Given the description of an element on the screen output the (x, y) to click on. 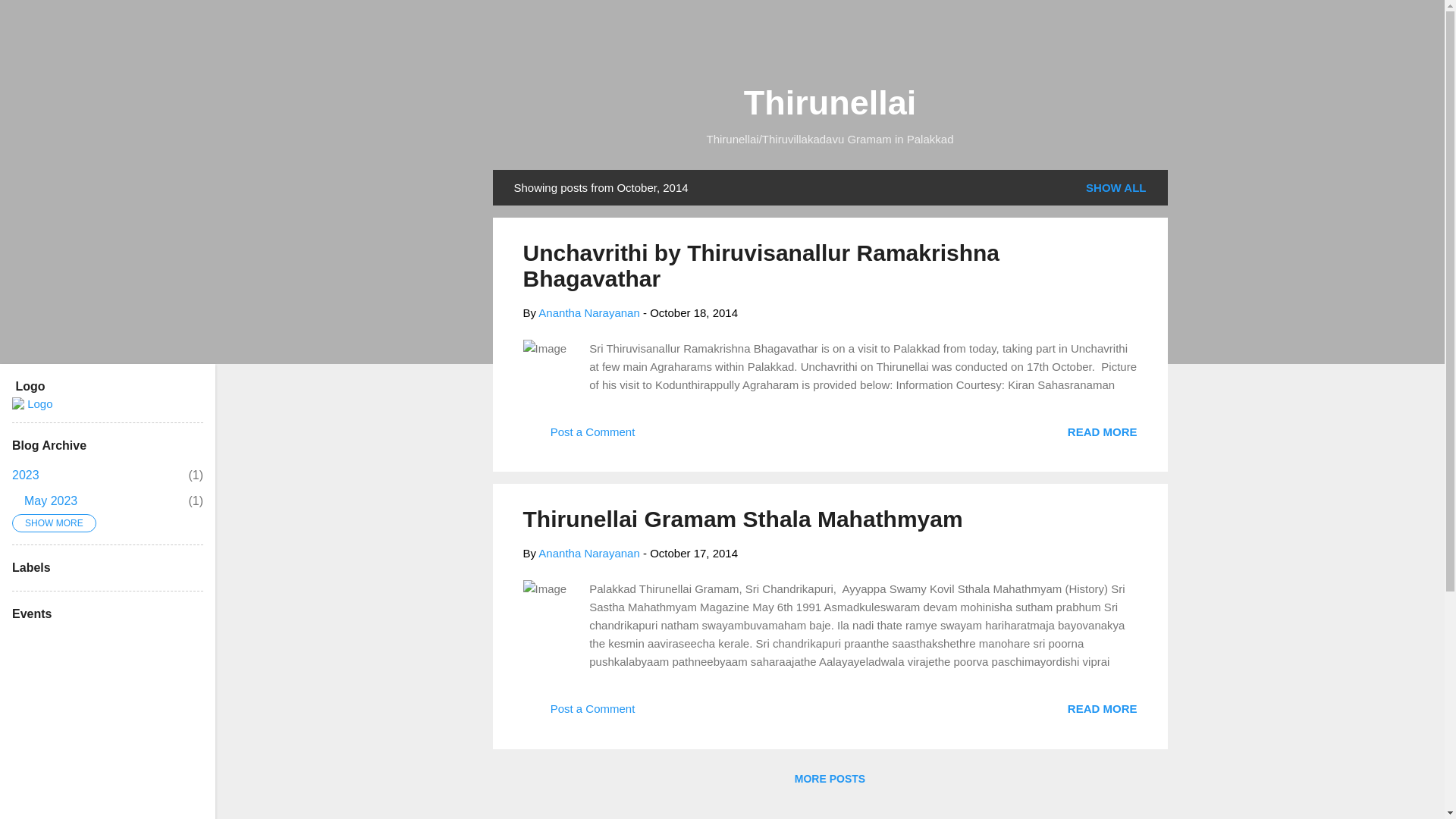
MORE POSTS (829, 777)
SHOW ALL (1115, 187)
READ MORE (1102, 431)
Unchavrithi by Thiruvisanallur Ramakrishna Bhagavathar (761, 265)
Thirunellai Gramam Sthala Mahathmyam (742, 518)
Anantha Narayanan (588, 312)
Unchavrithi by Thiruvisanallur Ramakrishna Bhagavathar (1102, 431)
October 18, 2014 (693, 312)
Thirunellai (830, 102)
October 17, 2014 (50, 500)
permanent link (25, 474)
Post a Comment (693, 553)
Anantha Narayanan (693, 312)
